Given the description of an element on the screen output the (x, y) to click on. 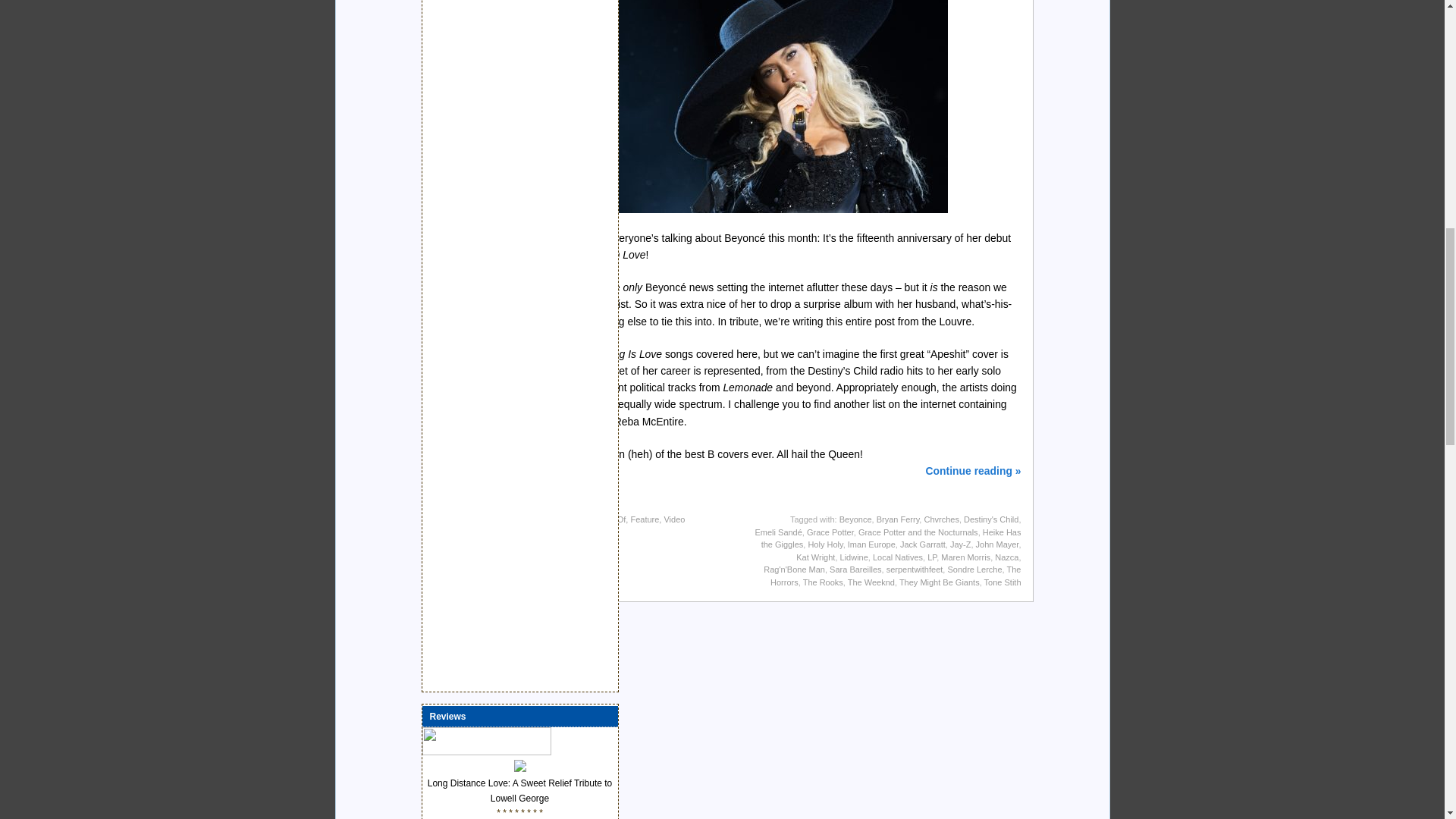
Grace Potter and the Nocturnals (918, 532)
Iman Europe (871, 543)
John Mayer (997, 543)
Chvrches (940, 519)
Feature (644, 519)
Beyonce (856, 519)
Grace Potter (829, 532)
Destiny's Child (990, 519)
Best Of (612, 519)
Best Covers Ever (561, 519)
Jay-Z (960, 543)
Jack Garratt (921, 543)
Bryan Ferry (898, 519)
Video (673, 519)
Heike Has the Giggles (891, 538)
